Given the description of an element on the screen output the (x, y) to click on. 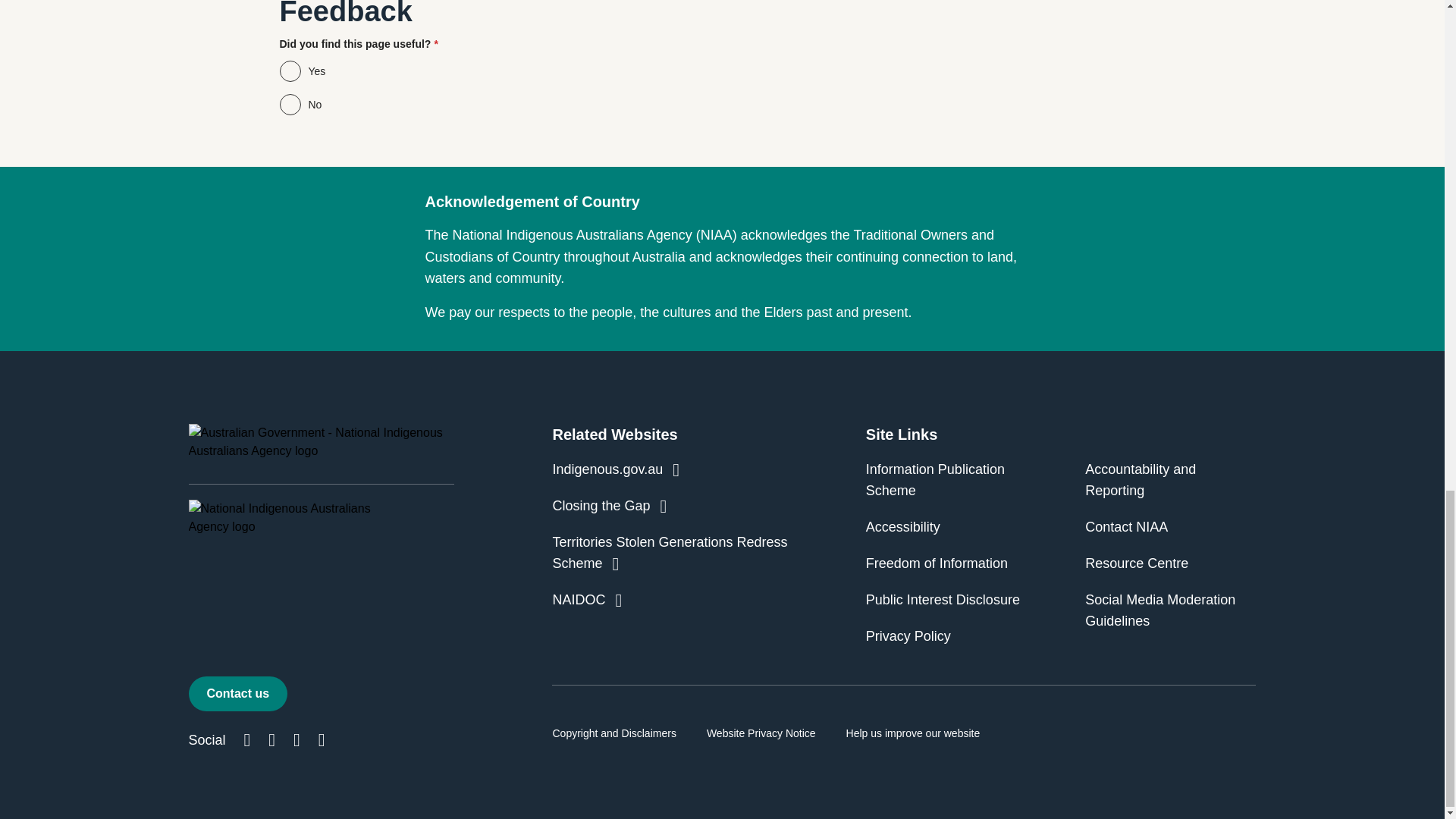
Help us improve our website (912, 733)
Website Privacy Notice (760, 733)
Copyright and Disclaimers (613, 733)
